Given the description of an element on the screen output the (x, y) to click on. 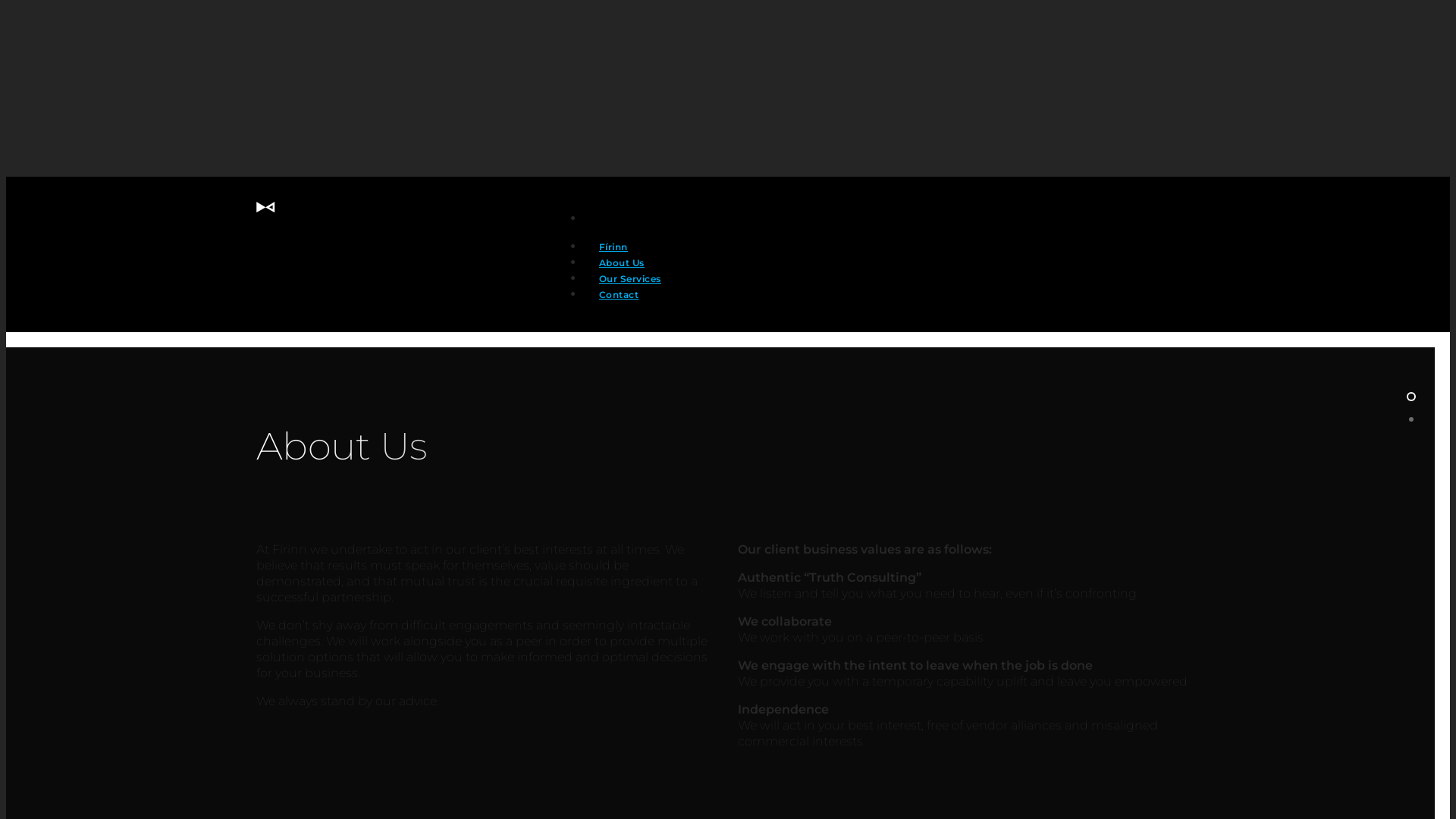
About Us Element type: text (621, 273)
Our Services Element type: text (630, 289)
Contact Element type: text (619, 305)
